Given the description of an element on the screen output the (x, y) to click on. 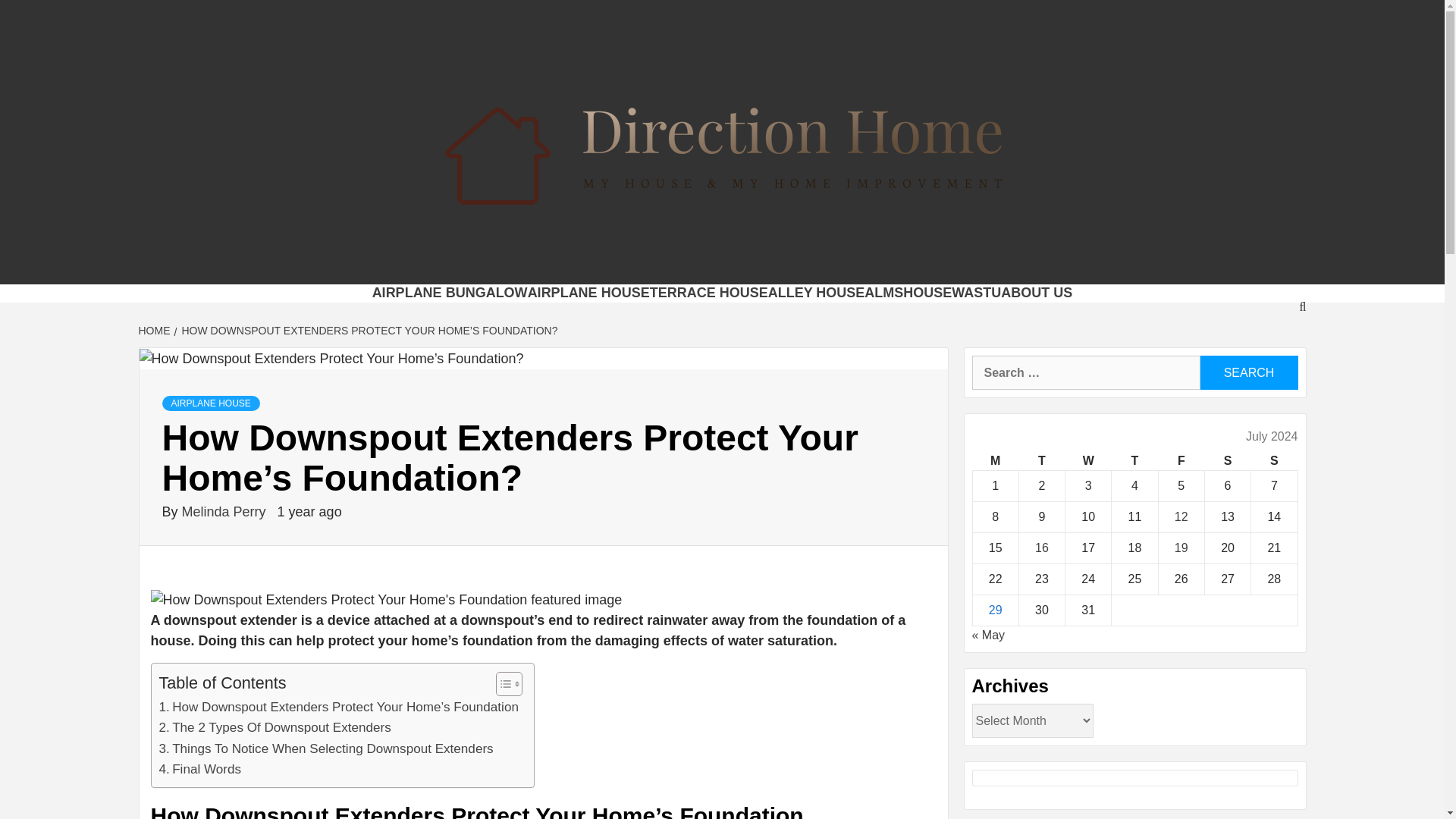
Search (1248, 372)
Wednesday (1088, 461)
The 2 Types Of Downspout Extenders (274, 727)
Melinda Perry (225, 511)
Search (1248, 372)
AIRPLANE HOUSE (588, 292)
Final Words (199, 769)
ABOUT US (1036, 292)
The 2 Types Of Downspout Extenders (274, 727)
pexels-eva-bronzini-5940870 (385, 599)
12 (1181, 516)
Things To Notice When Selecting Downspout Extenders (325, 748)
ALLEY HOUSE (816, 292)
TERRACE HOUSE (708, 292)
AIRPLANE BUNGALOW (449, 292)
